Given the description of an element on the screen output the (x, y) to click on. 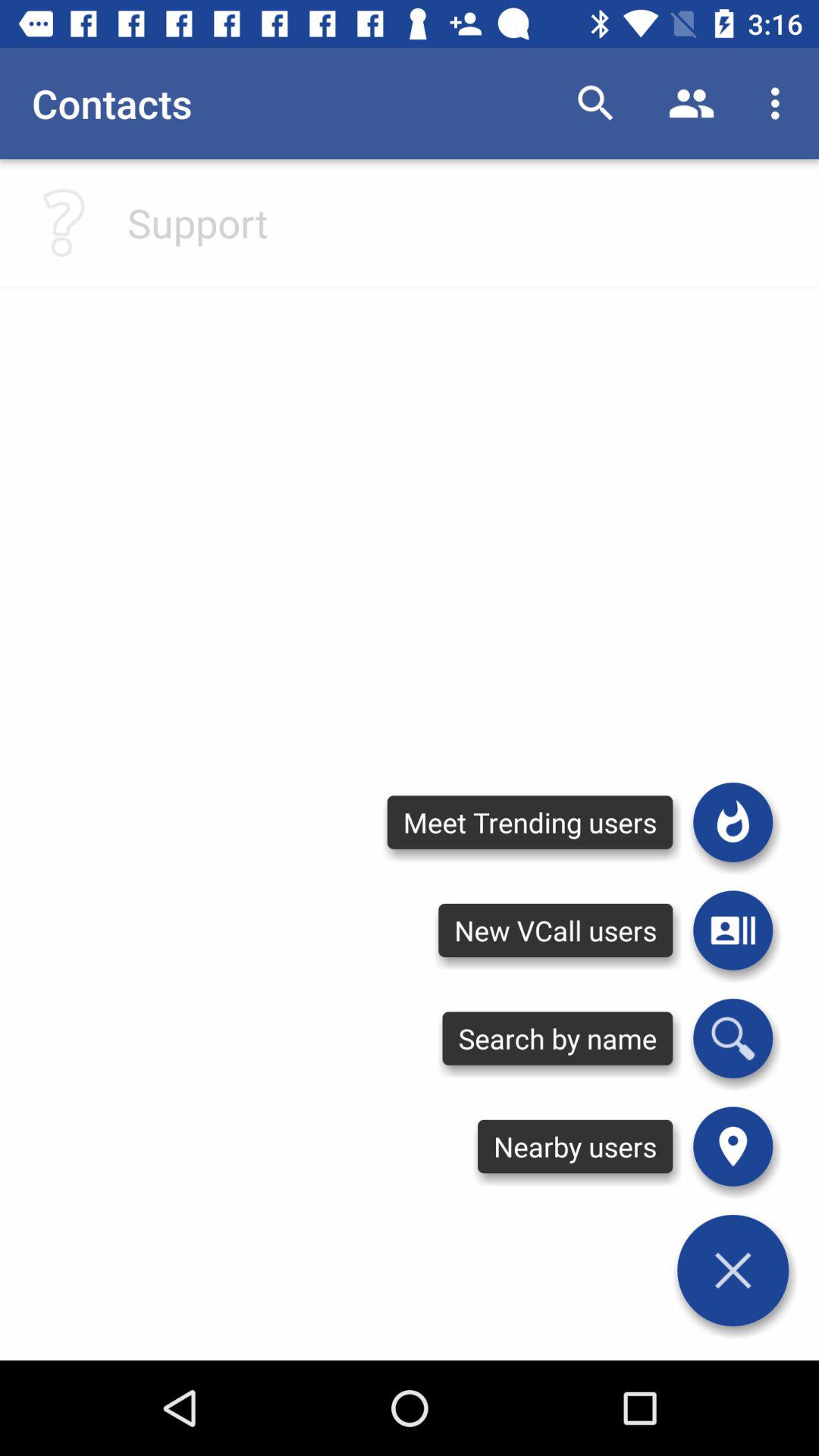
help button (63, 222)
